Given the description of an element on the screen output the (x, y) to click on. 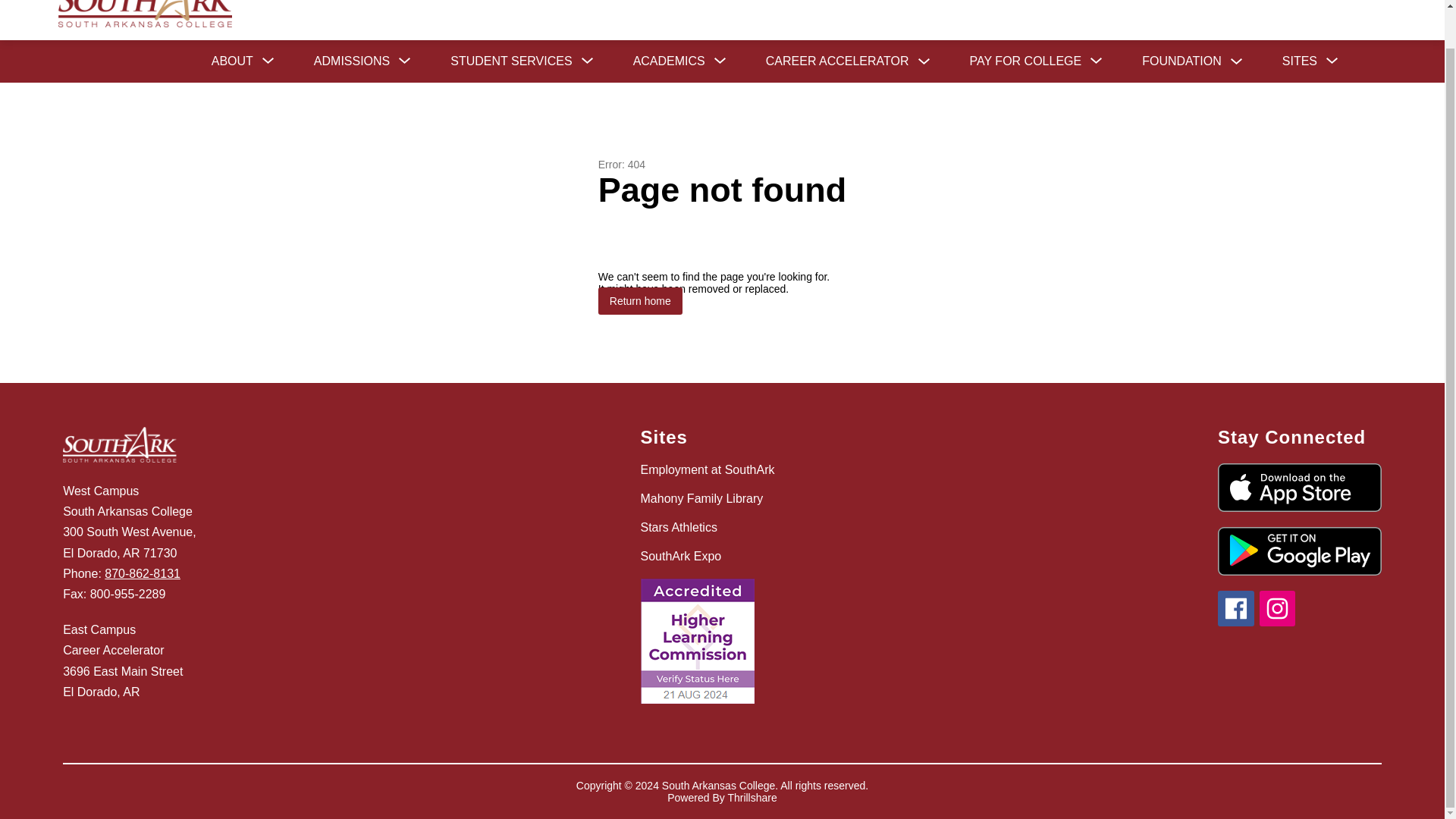
SEARCH (1413, 1)
Giving (1363, 1)
Need Help? (1287, 1)
Apply Now (1197, 1)
Request Transcript (1088, 1)
ABOUT (232, 61)
